Given the description of an element on the screen output the (x, y) to click on. 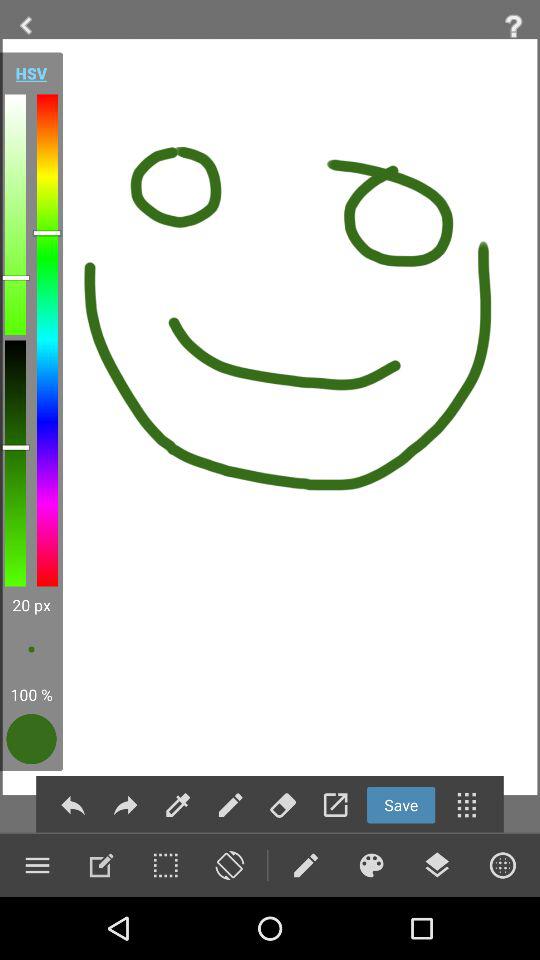
click to the share (125, 804)
